Given the description of an element on the screen output the (x, y) to click on. 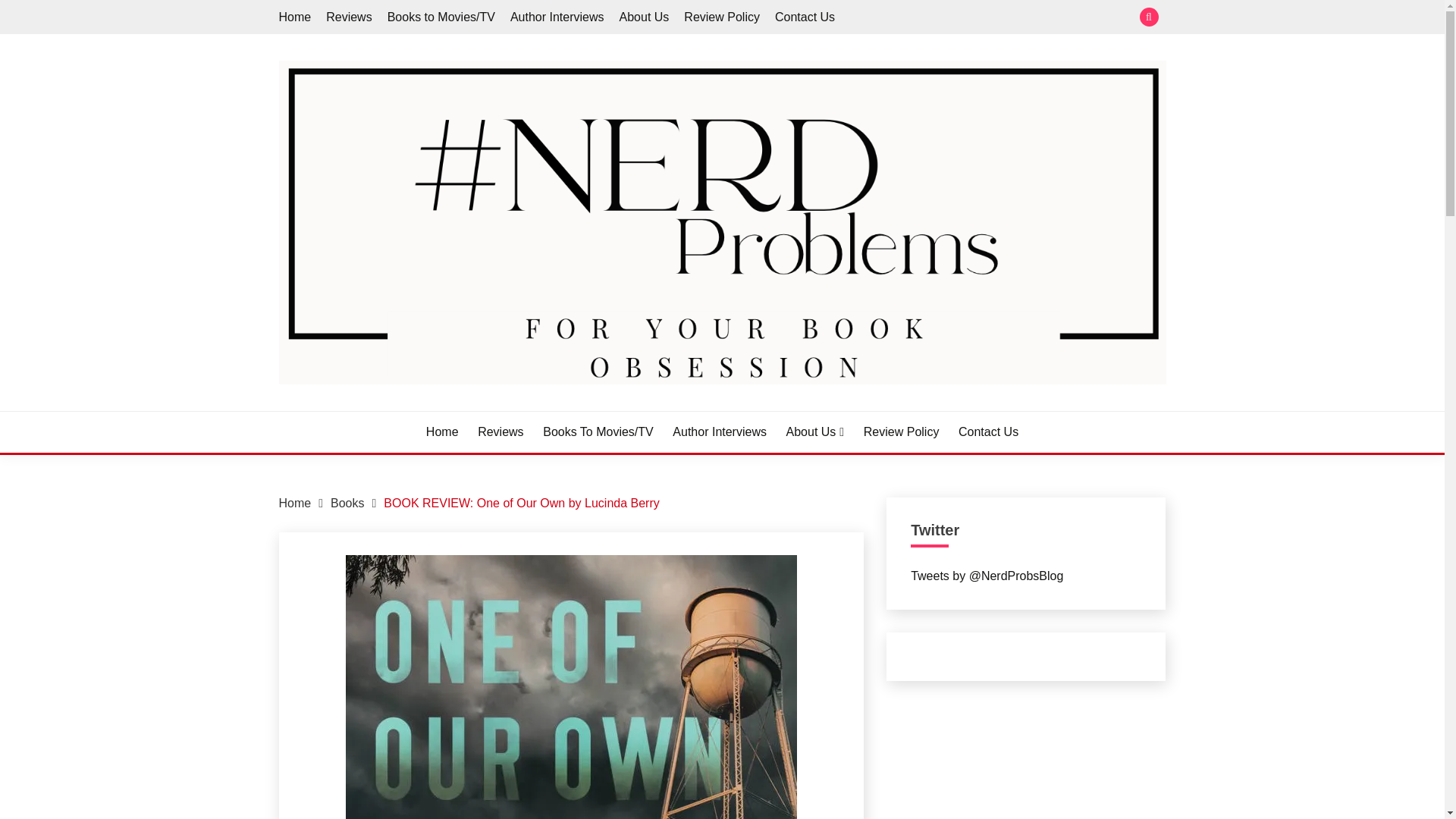
Books (347, 502)
About Us (815, 432)
Reviews (348, 16)
Search (832, 18)
Review Policy (901, 432)
Review Policy (722, 16)
Reviews (499, 432)
Home (295, 502)
Contact Us (987, 432)
About Us (644, 16)
BOOK REVIEW: One of Our Own by Lucinda Berry (521, 502)
Author Interviews (557, 16)
Home (442, 432)
Contact Us (804, 16)
Author Interviews (719, 432)
